Given the description of an element on the screen output the (x, y) to click on. 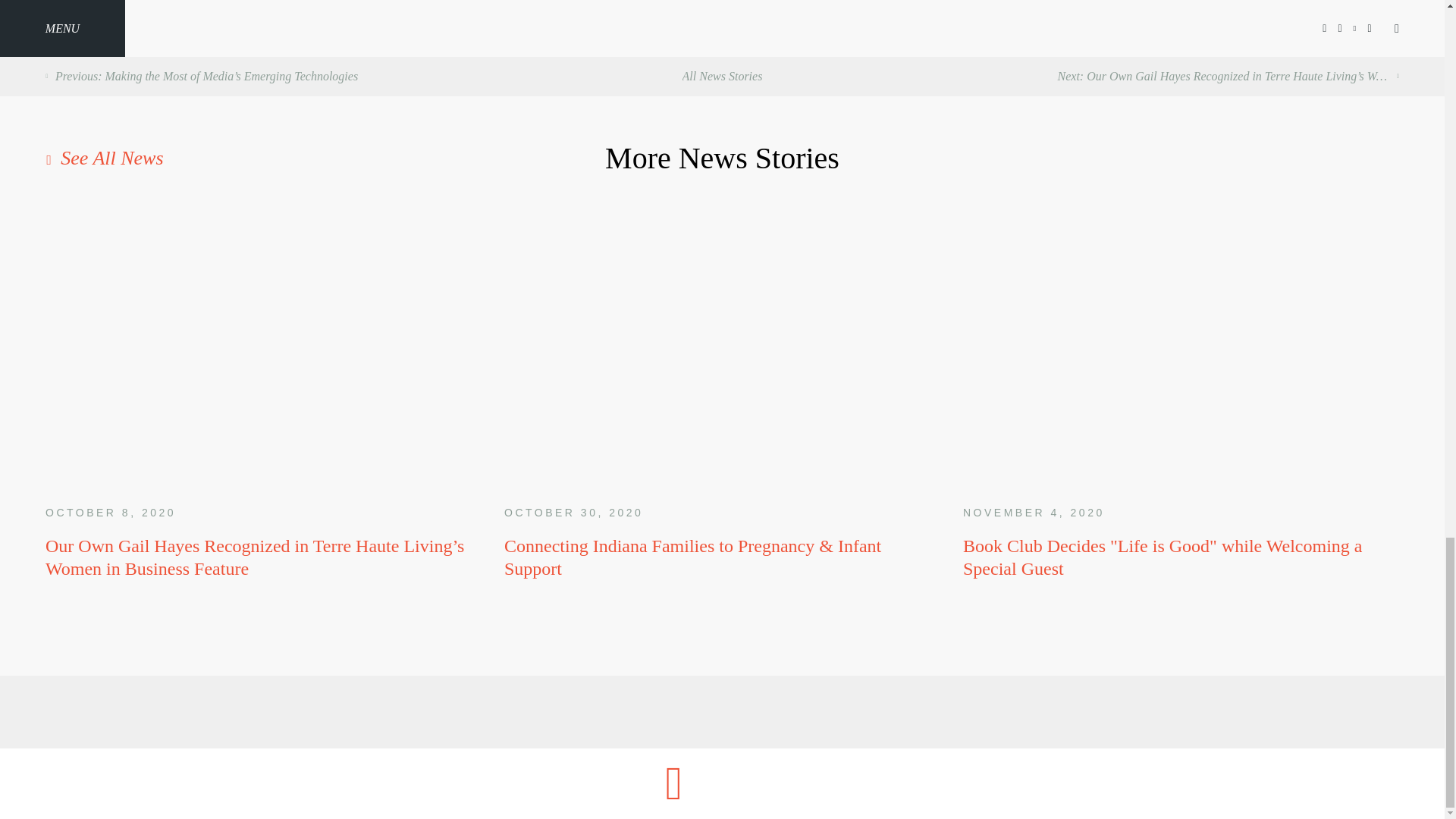
See All News (270, 157)
